Given the description of an element on the screen output the (x, y) to click on. 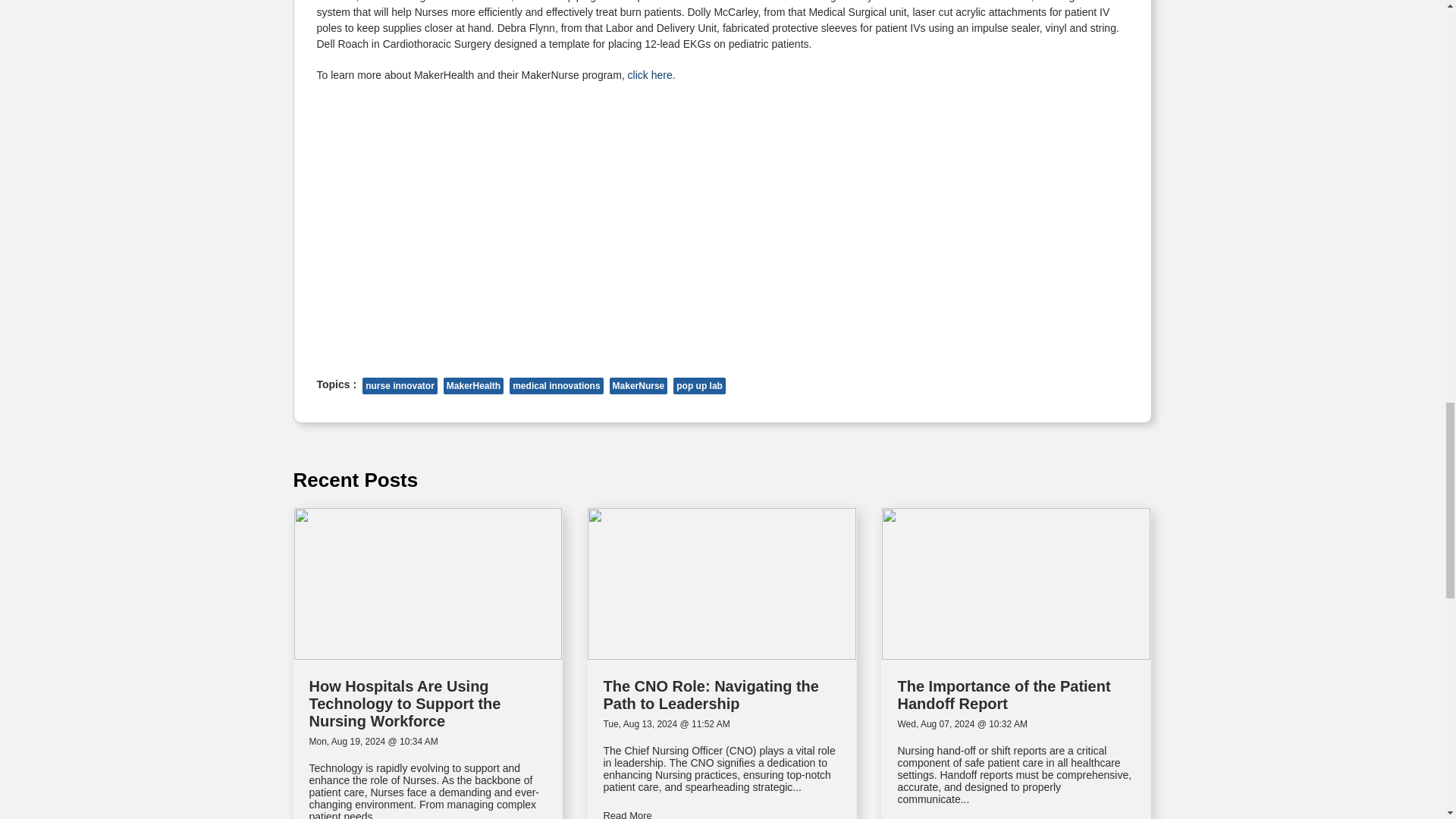
nurse innovator (400, 385)
medical innovations (555, 385)
click here (649, 74)
MakerHealth (473, 385)
pop up lab (698, 385)
MakerNurse (639, 385)
